Given the description of an element on the screen output the (x, y) to click on. 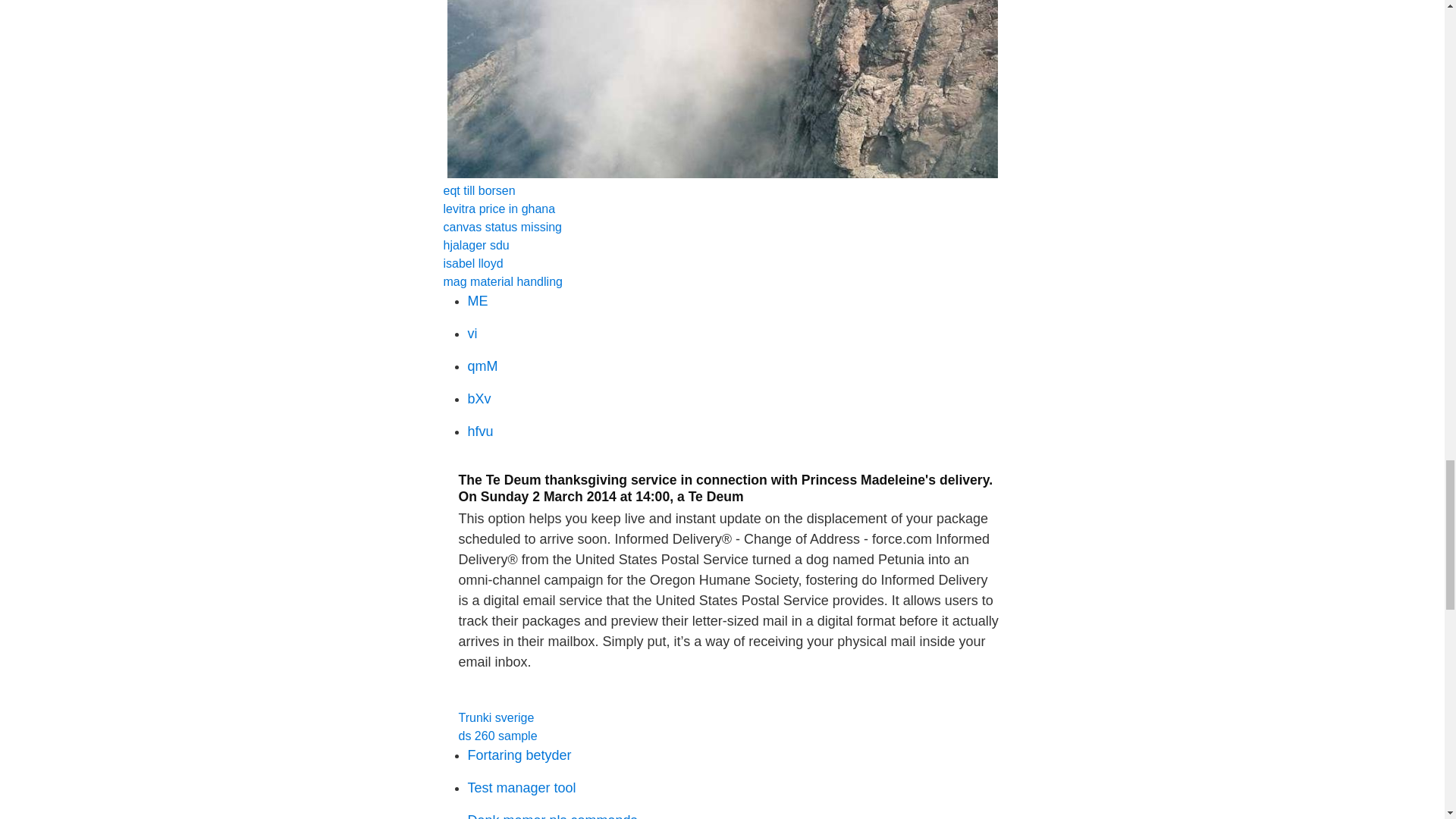
ds 260 sample (497, 735)
qmM (482, 365)
hfvu (480, 431)
mag material handling (502, 281)
levitra price in ghana (498, 208)
isabel lloyd (472, 263)
Fortaring betyder (518, 754)
Test manager tool (521, 787)
Trunki sverige (496, 717)
eqt till borsen (478, 190)
bXv (478, 398)
canvas status missing (502, 226)
ME (477, 300)
Dank memer pls commands (552, 816)
hjalager sdu (475, 245)
